Given the description of an element on the screen output the (x, y) to click on. 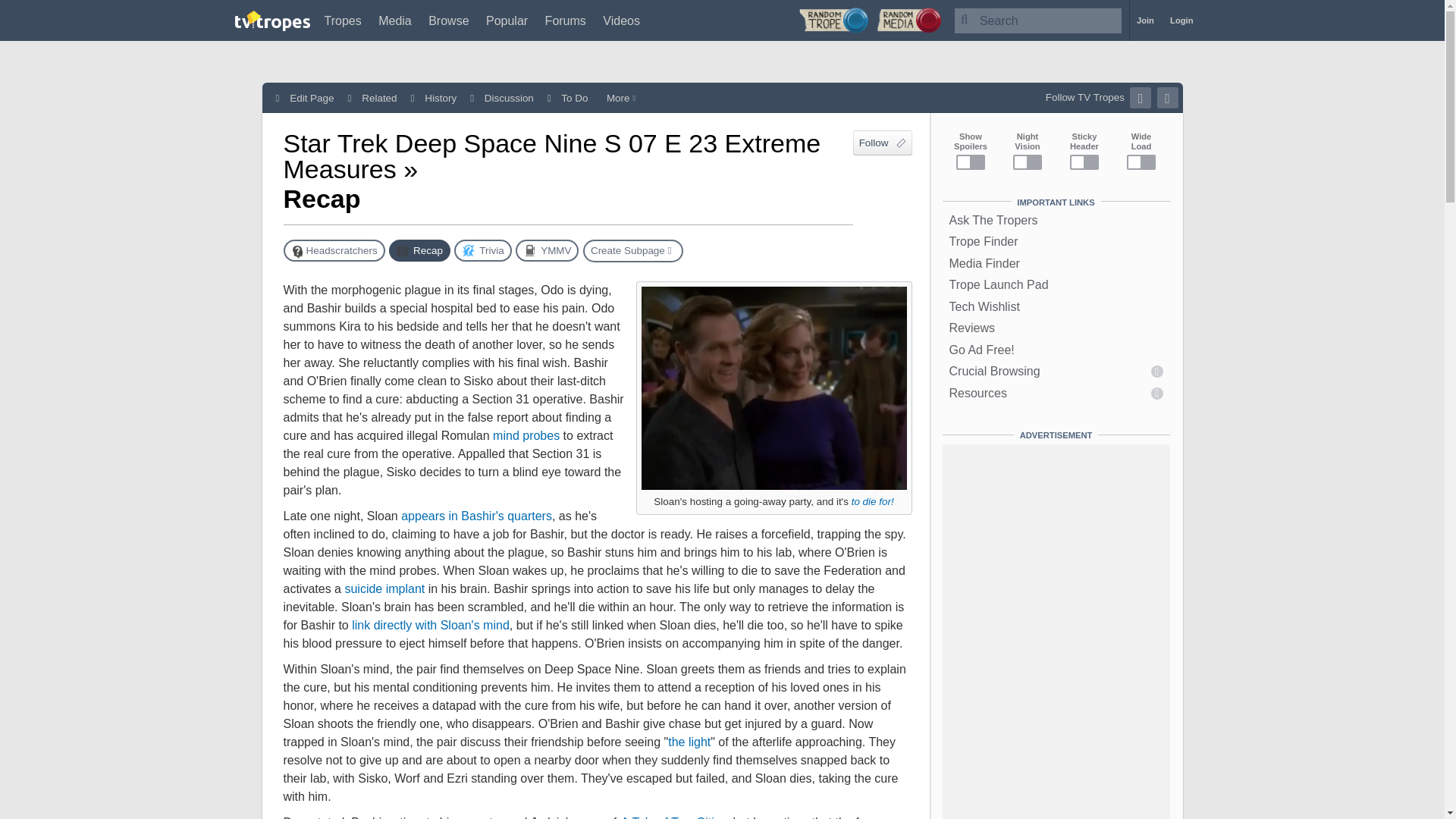
The YMMV page (546, 250)
The Recap page (418, 250)
The Trivia page (482, 250)
Forums (565, 20)
Media (395, 20)
Popular (506, 20)
Login (1181, 20)
Videos (621, 20)
Browse (448, 20)
The Headscratchers page (334, 250)
Tropes (342, 20)
